Given the description of an element on the screen output the (x, y) to click on. 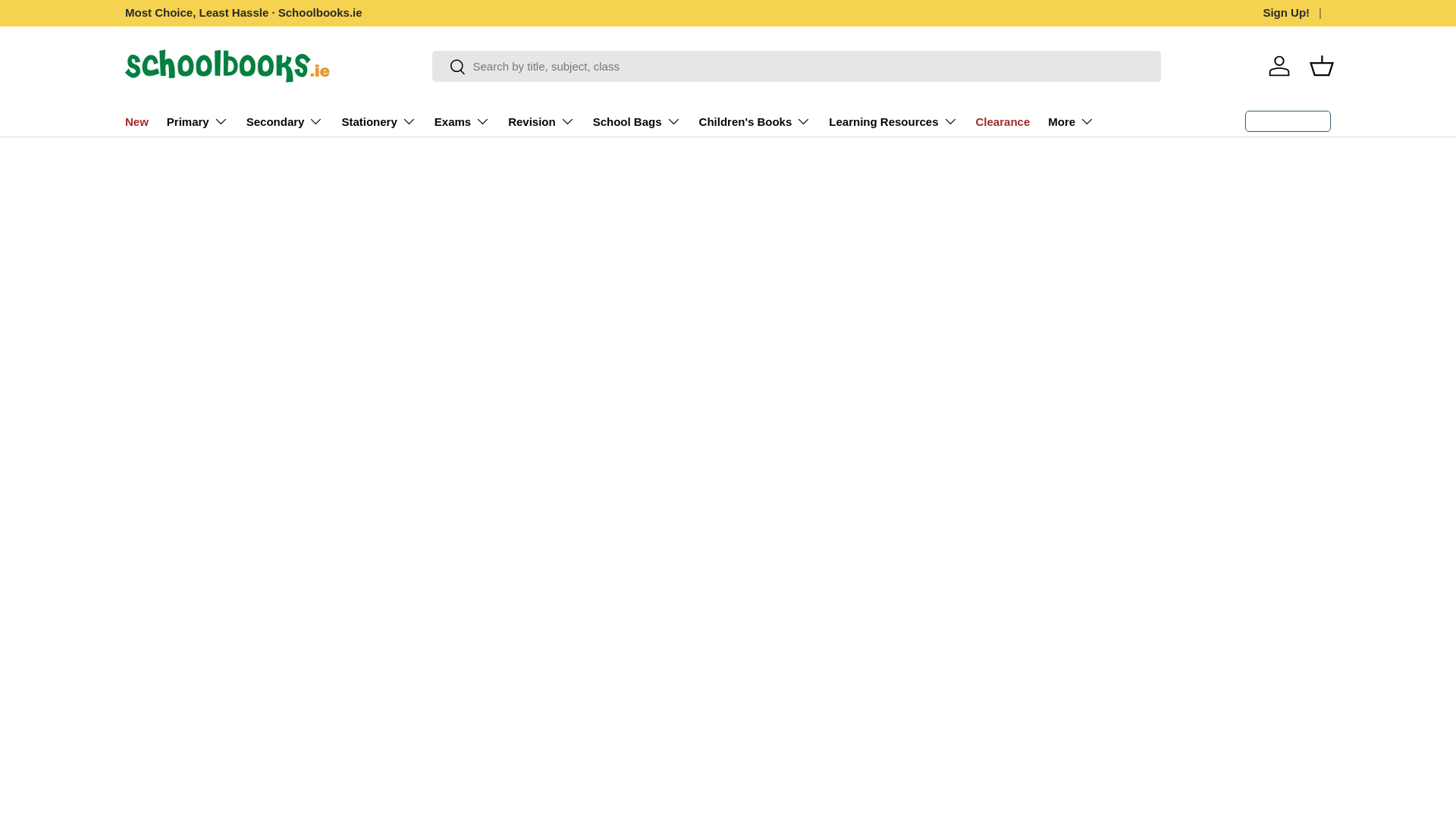
Log in (1278, 65)
Basket (1321, 65)
Skip to content (68, 21)
Search (448, 67)
Primary (197, 121)
Sign Up! (1296, 13)
